Given the description of an element on the screen output the (x, y) to click on. 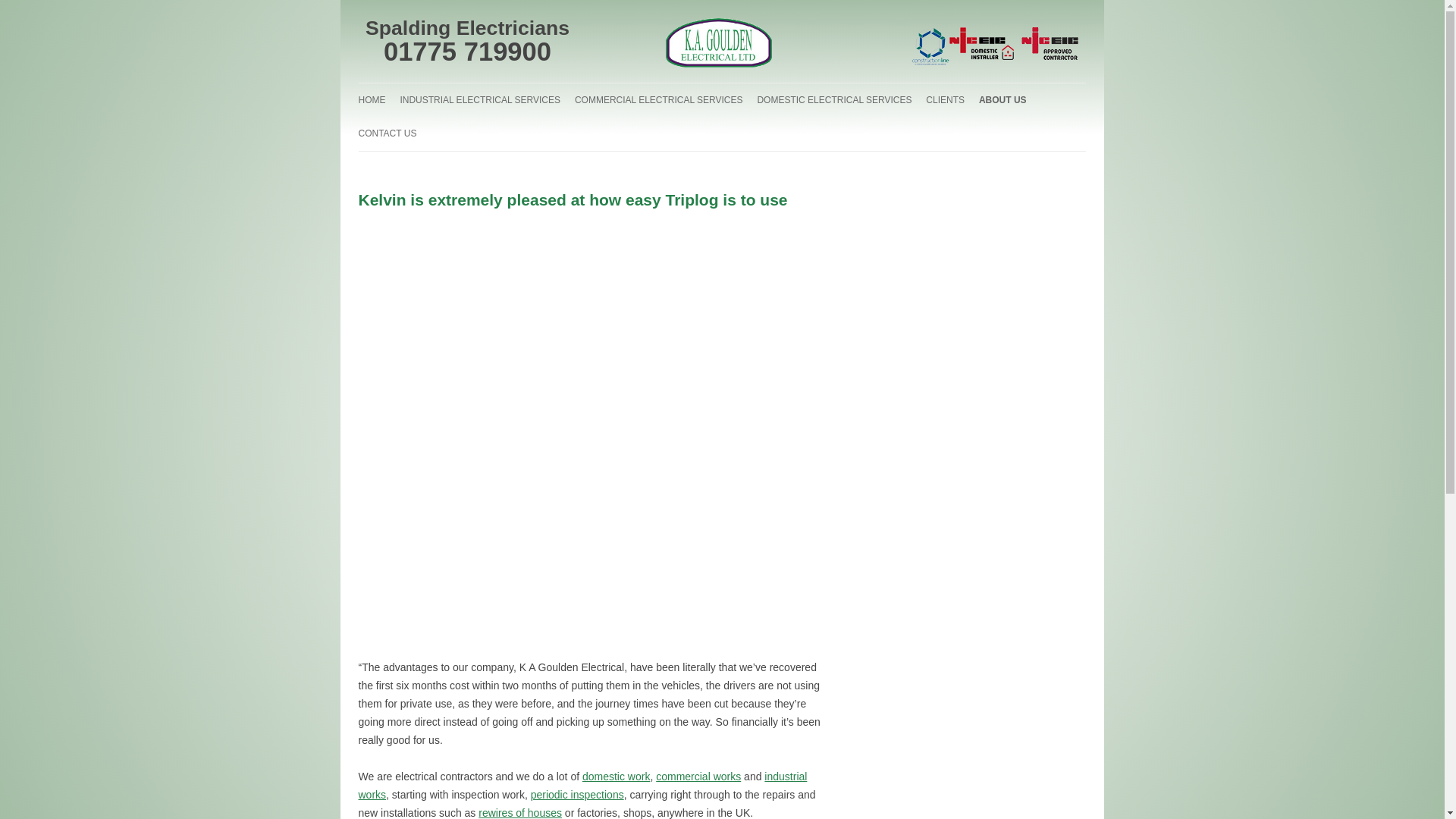
CLIENTS (944, 100)
COMMERCIAL ELECTRICAL SERVICES (658, 100)
ABOUT US (1002, 100)
Kelvin is extremely pleased at how easy Triplog is to use (572, 199)
periodic inspections (577, 794)
NICEIC Approved Contractor (1050, 38)
Skip to content (393, 87)
industrial works (582, 785)
INDUSTRIAL ELECTRICAL SERVICES (479, 100)
DOMESTIC ELECTRICAL SERVICES (834, 100)
